Given the description of an element on the screen output the (x, y) to click on. 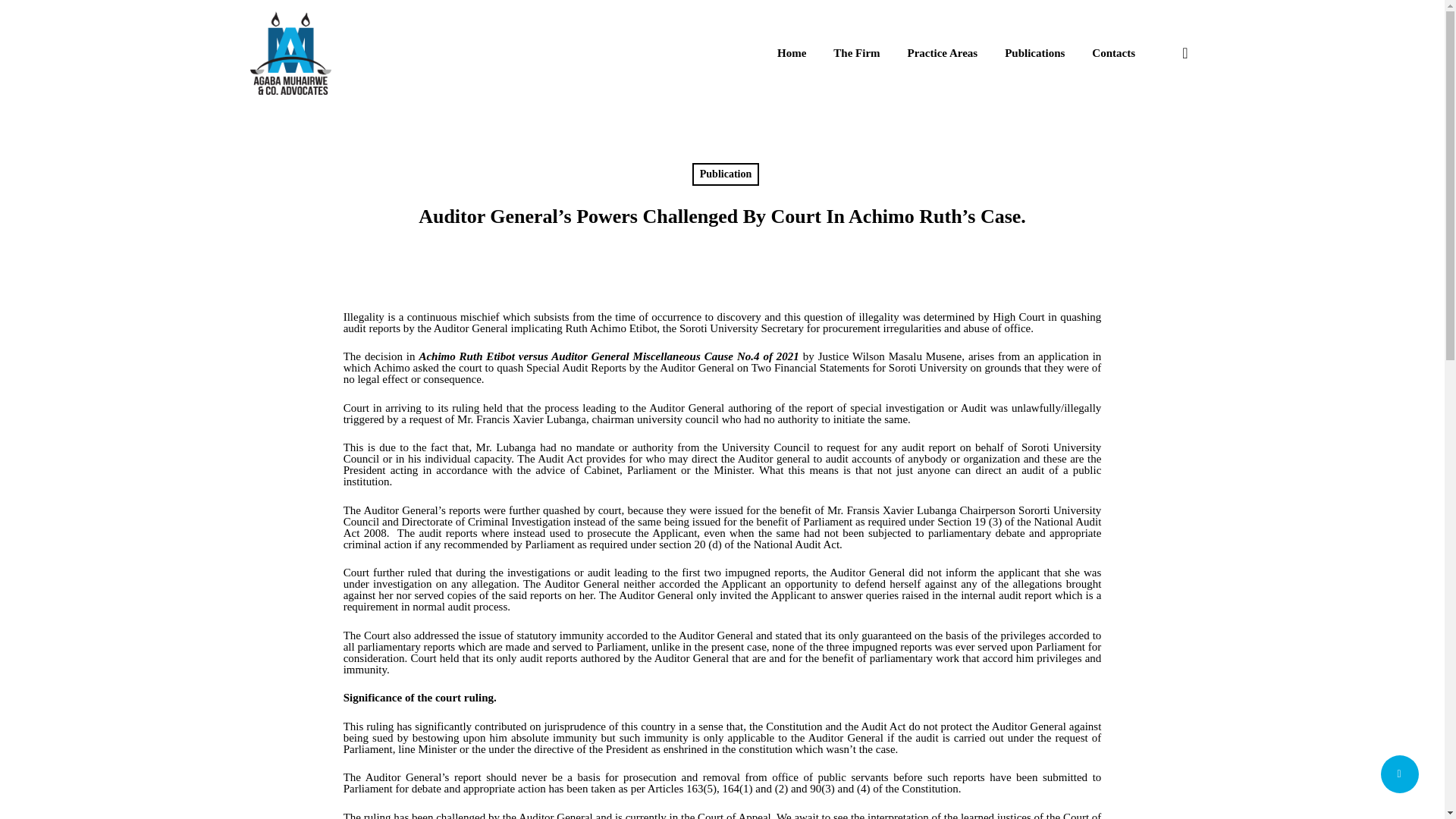
Practice Areas (942, 52)
search (1184, 53)
Contacts (1113, 52)
The Firm (855, 52)
Publication (725, 173)
Home (791, 52)
Publications (1034, 52)
